Given the description of an element on the screen output the (x, y) to click on. 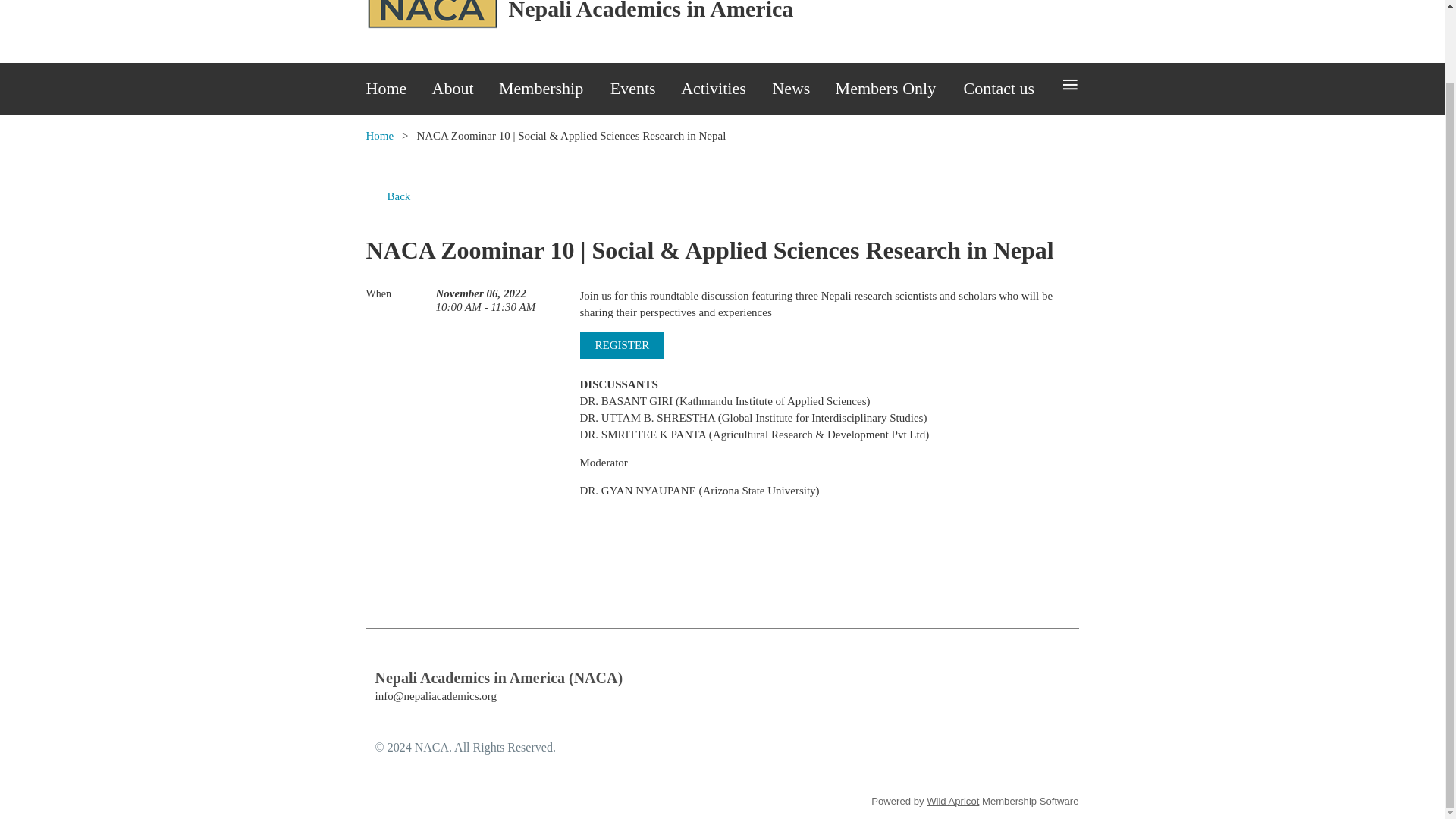
Events (645, 88)
About (465, 88)
Home (397, 88)
About (465, 88)
Activities (726, 88)
Membership (554, 88)
Home (397, 88)
Events (645, 88)
Membership (554, 88)
